Given the description of an element on the screen output the (x, y) to click on. 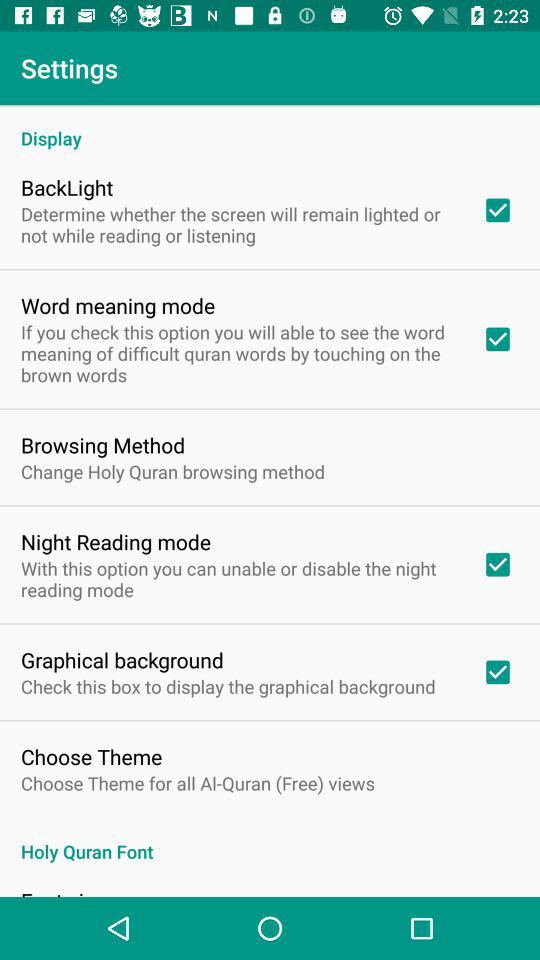
tap item below the display item (67, 187)
